Given the description of an element on the screen output the (x, y) to click on. 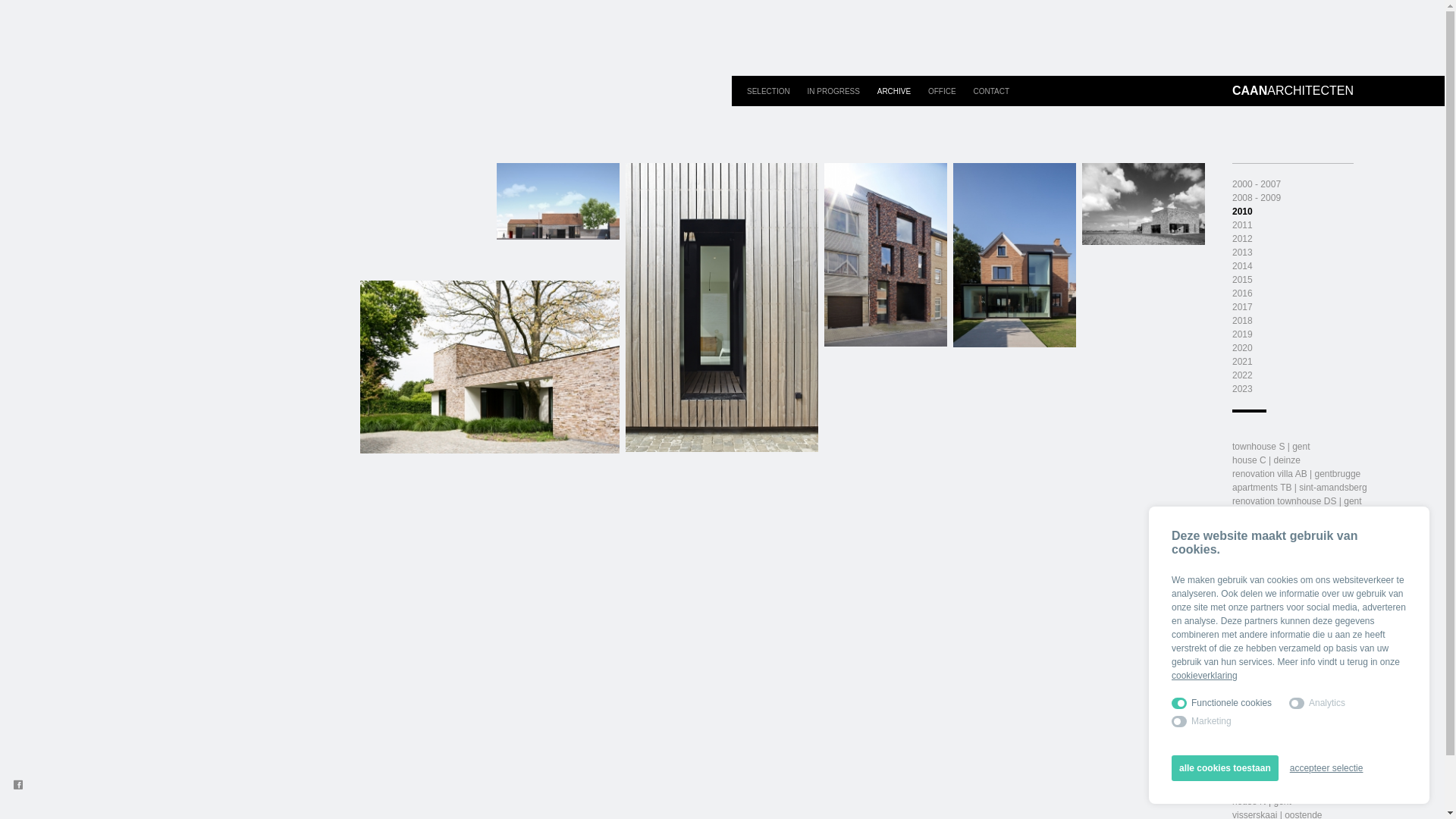
2022 Element type: text (1242, 375)
renovation townhouse DS | gent Element type: text (1296, 500)
house M | de pinte Element type: text (1269, 719)
2021 Element type: text (1242, 361)
2016 Element type: text (1242, 293)
cookieverklaring Element type: text (1204, 675)
2008 - 2009 Element type: text (1256, 197)
residence BAUHAUS | oostduinkerke Element type: text (1307, 678)
CONTACT Element type: text (990, 91)
2011 Element type: text (1242, 224)
alle cookies toestaan Element type: text (1224, 768)
house DS | haaltert Element type: text (1271, 610)
OFFICE Element type: text (942, 91)
2017 Element type: text (1242, 306)
villa VV | scheldewindeke Element type: text (1283, 773)
studio's TENTOON | gent Element type: text (1283, 787)
SELECTION Element type: text (768, 91)
house VKM | astene Element type: text (1273, 596)
house DV | hansbeke Element type: text (1275, 760)
restaurant CLEMENT | diksmuide Element type: text (1299, 514)
2012 Element type: text (1242, 238)
house M | erpe-mere Element type: text (1274, 582)
house VB | tielt Element type: text (1262, 705)
2000 - 2007 Element type: text (1256, 183)
apartments B | Gent Element type: text (1272, 651)
house C | deinze Element type: text (1266, 460)
2013 Element type: text (1242, 252)
2014 Element type: text (1242, 265)
apartments EVC | melle Element type: text (1280, 569)
house G | kruishoutem Element type: text (1278, 623)
CAANARCHITECTEN Element type: text (1292, 90)
renovation villa AB | gentbrugge Element type: text (1296, 473)
accepteer selectie Element type: text (1326, 768)
ARCHIVE Element type: text (893, 91)
2015 Element type: text (1242, 279)
house S | afsnee Element type: text (1266, 528)
house A | berlare Element type: text (1266, 733)
house + swimmingpool VWB | afsnee Element type: text (1307, 664)
IN PROGRESS Element type: text (833, 91)
2020 Element type: text (1242, 347)
gandamolens | gent Element type: text (1271, 746)
house DC | gent Element type: text (1265, 692)
2018 Element type: text (1242, 320)
house VS | merendree Element type: text (1277, 541)
2019 Element type: text (1242, 334)
2010 Element type: text (1242, 211)
2023 Element type: text (1242, 388)
apartments TB | sint-amandsberg Element type: text (1299, 487)
